Given the description of an element on the screen output the (x, y) to click on. 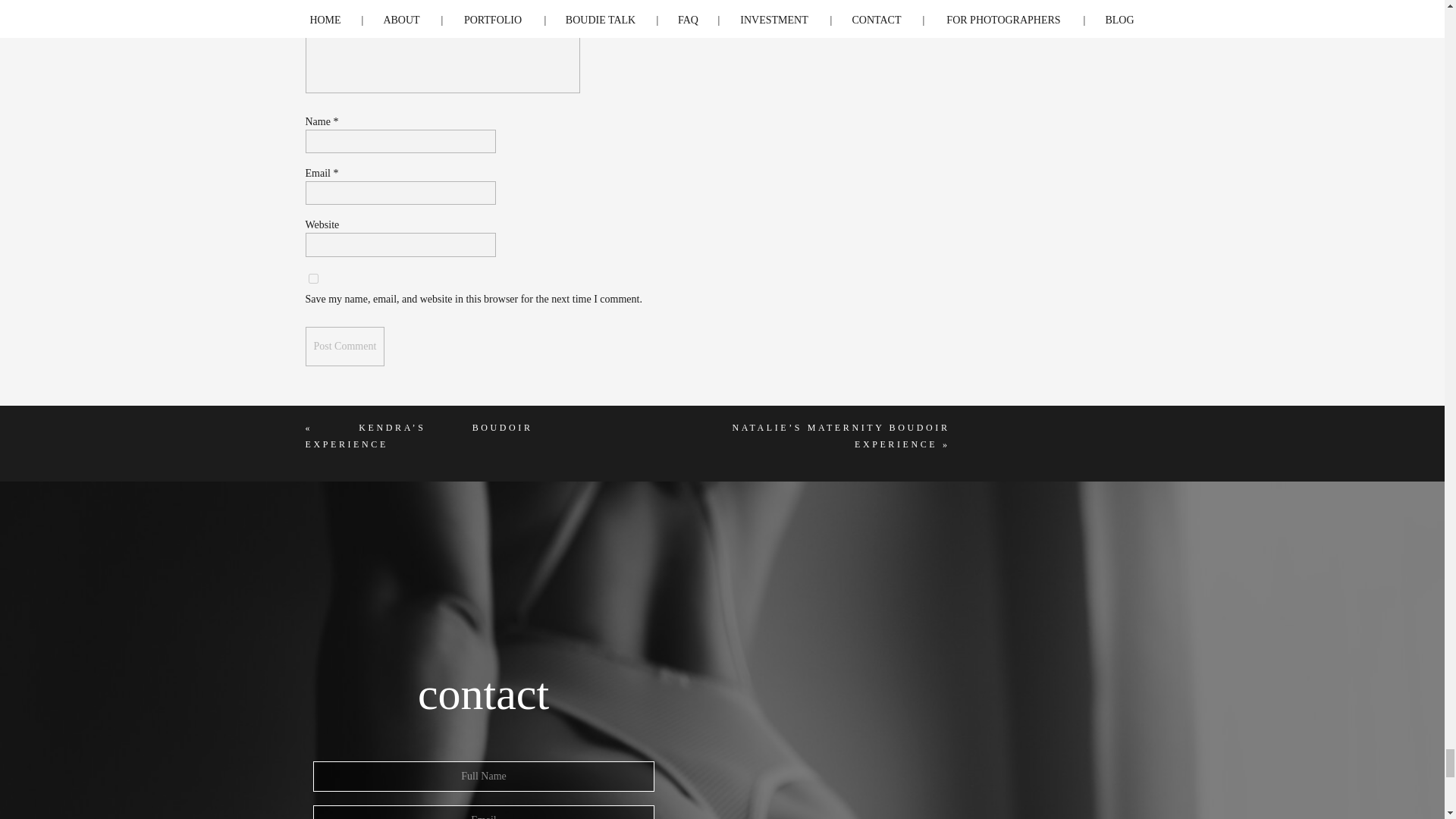
Post Comment (344, 345)
Post Comment (344, 345)
yes (312, 278)
